Given the description of an element on the screen output the (x, y) to click on. 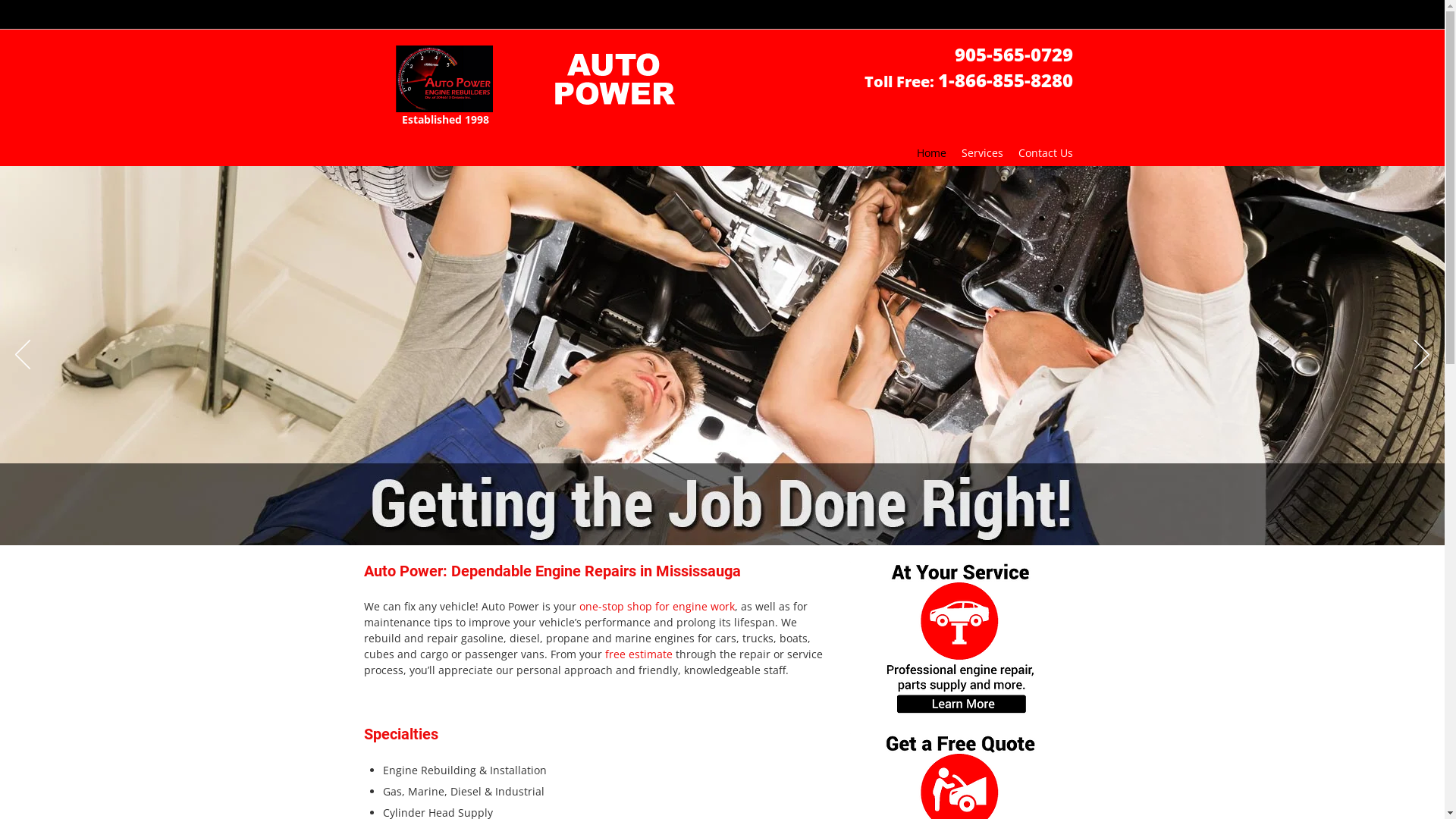
1-866-855-8280 Element type: text (1004, 84)
one-stop shop for engine work Element type: text (656, 607)
Home Element type: text (930, 152)
Services Element type: text (981, 152)
Contact Us Element type: text (1044, 152)
free estimate Element type: text (638, 655)
905-565-0729 Element type: text (1012, 58)
